Given the description of an element on the screen output the (x, y) to click on. 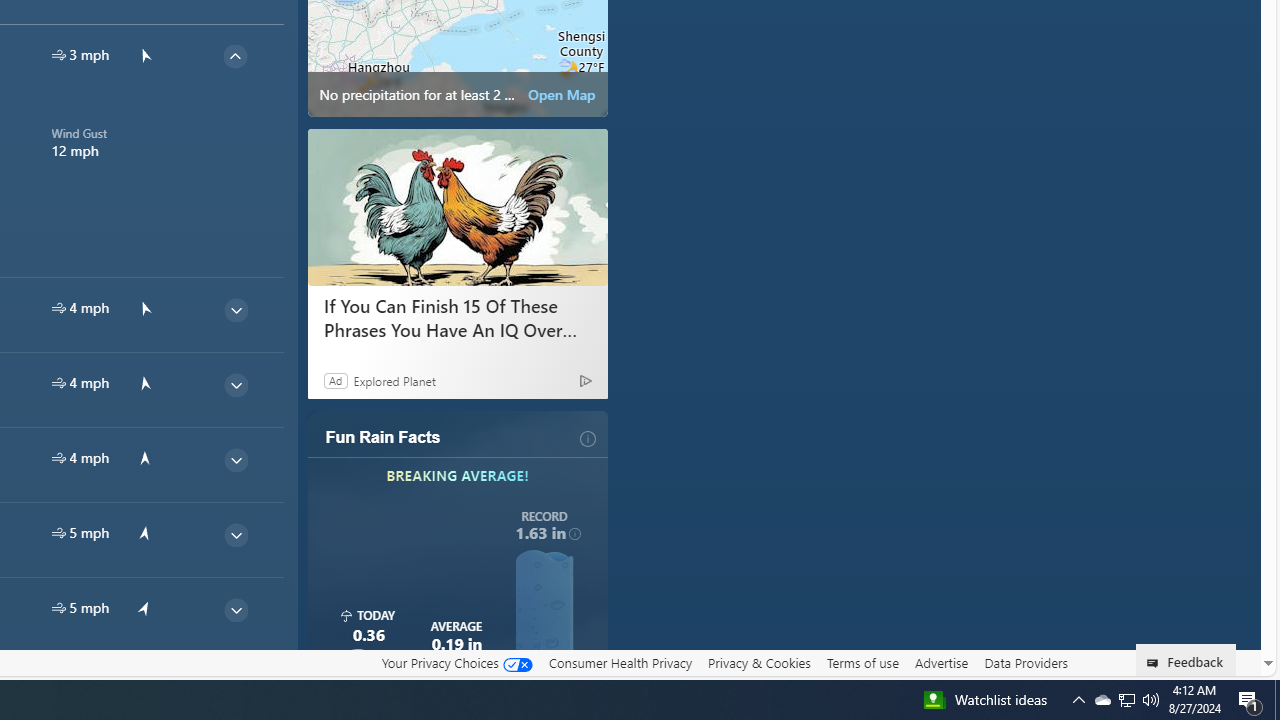
Your Privacy Choices (456, 663)
Watchlist ideas (984, 699)
